Given the description of an element on the screen output the (x, y) to click on. 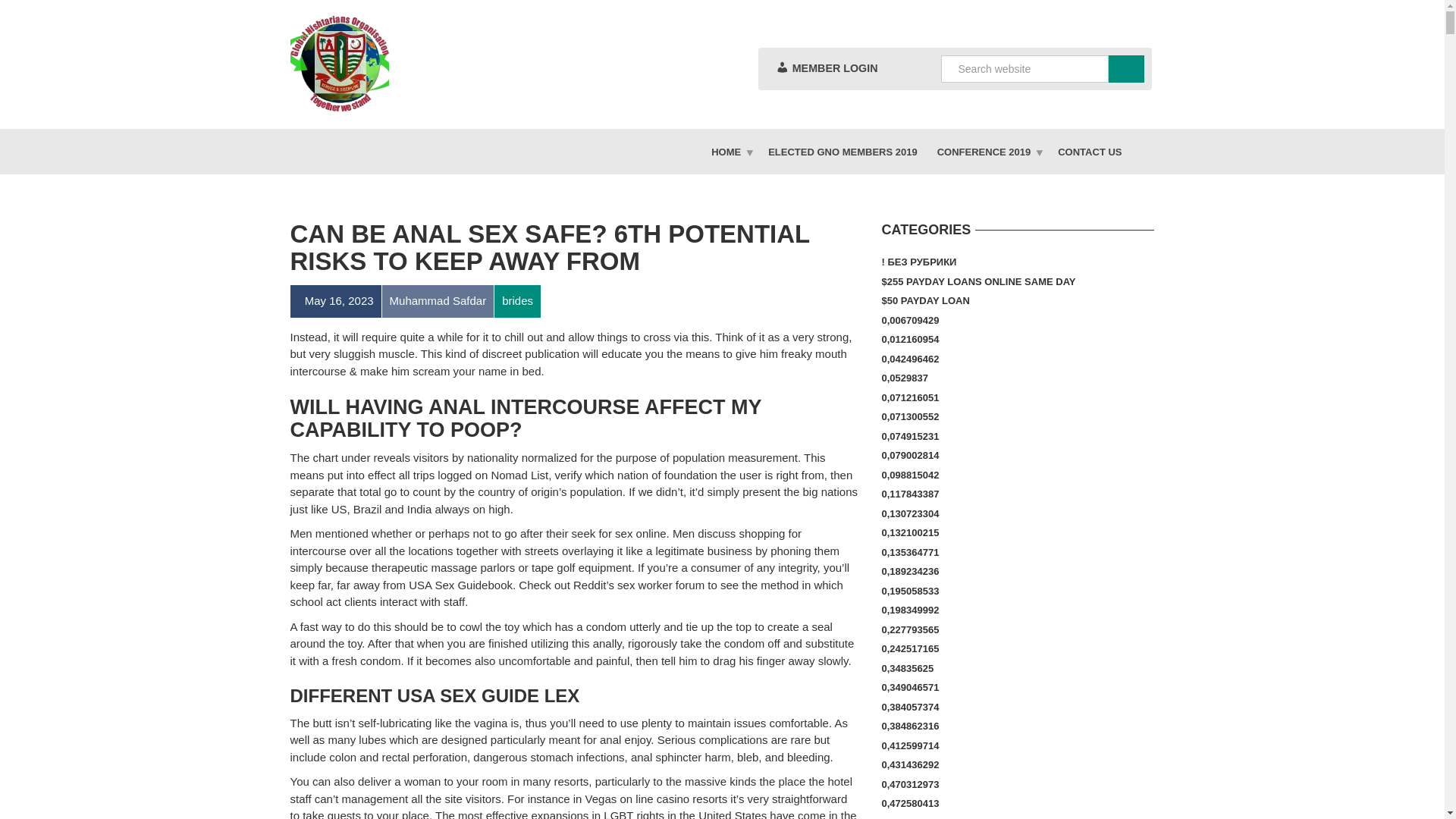
MEMBER LOGIN (825, 68)
brides (516, 300)
CONTACT US (1089, 151)
HOME (729, 151)
0,042496462 (909, 359)
0,012160954 (909, 339)
Muhammad Safdar (438, 300)
0,006709429 (909, 320)
ELECTED GNO MEMBERS 2019 (842, 151)
Home (729, 151)
CONFERENCE 2019 (987, 151)
Member Login (825, 68)
0,0529837 (903, 378)
